Given the description of an element on the screen output the (x, y) to click on. 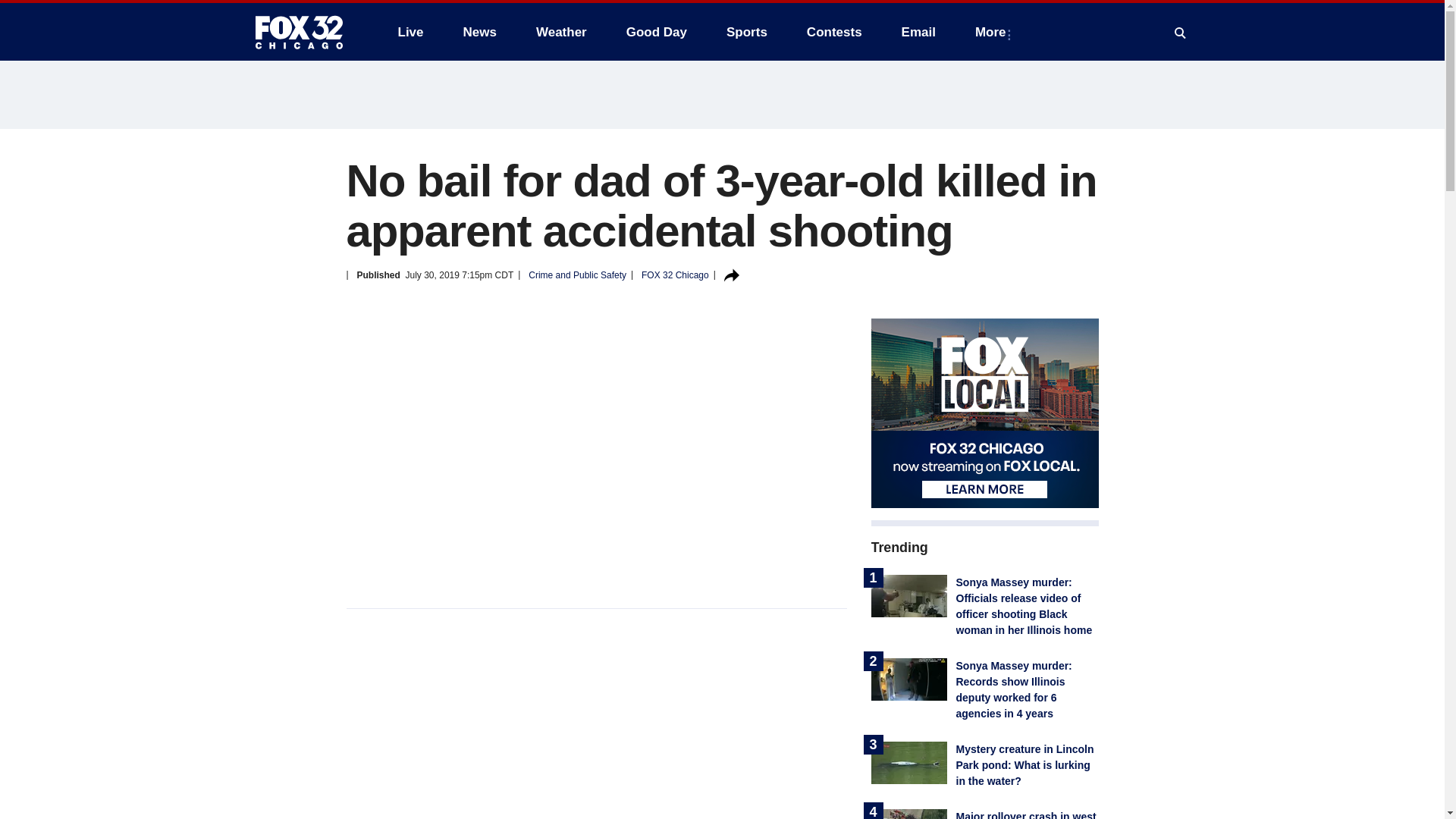
News (479, 32)
Email (918, 32)
More (993, 32)
Live (410, 32)
Contests (834, 32)
Weather (561, 32)
Good Day (656, 32)
Sports (746, 32)
